Given the description of an element on the screen output the (x, y) to click on. 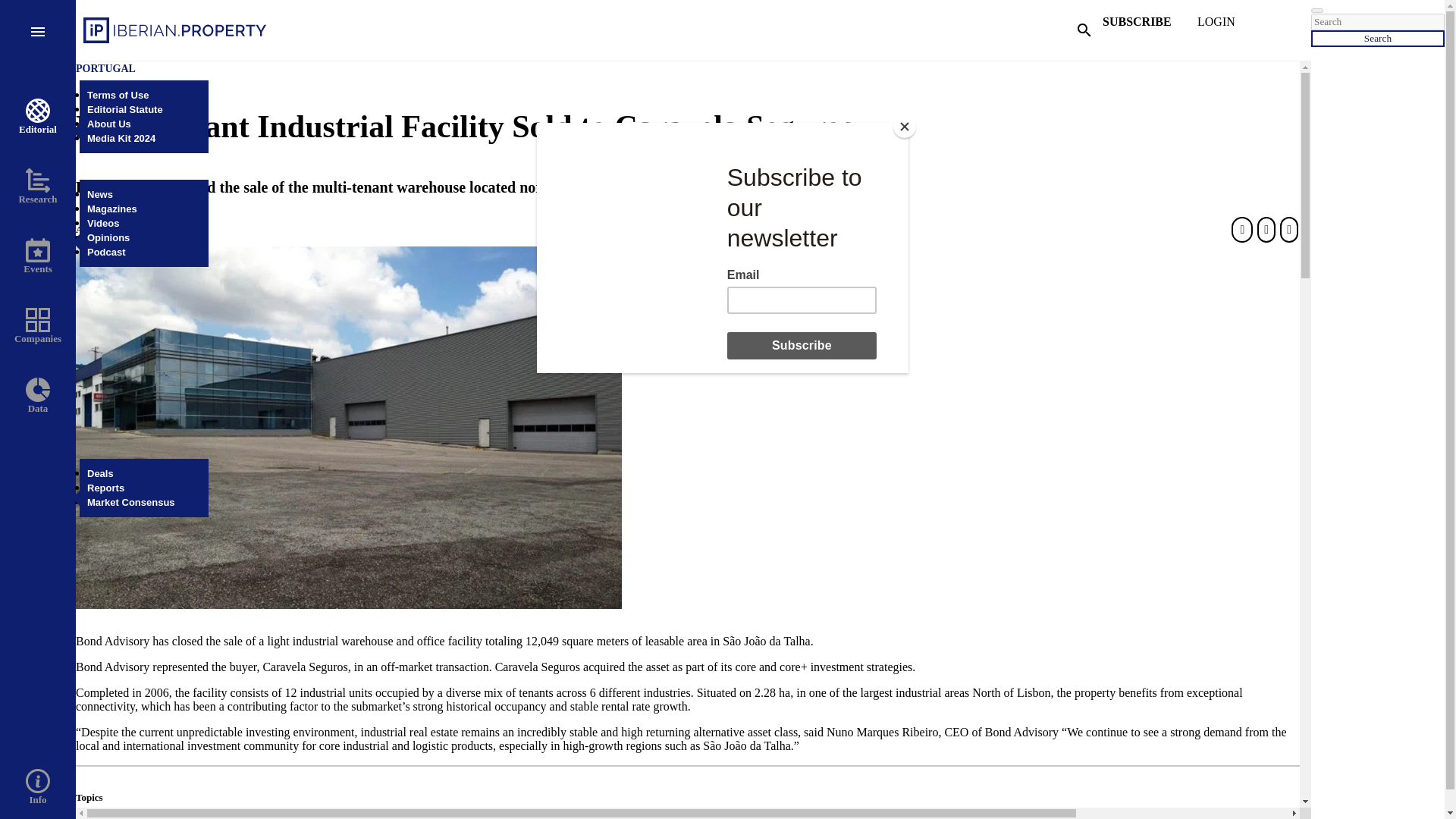
Editorial (37, 117)
Terms of Use (117, 94)
About Us (109, 123)
SUBSCRIBE (1147, 28)
LOGIN (1242, 28)
Media Kit 2024 (121, 138)
Companies (37, 326)
Reports (105, 487)
Research (37, 187)
Opinions (108, 237)
Videos (103, 223)
Editorial Statute (125, 109)
Magazines (111, 208)
Deals (100, 473)
News (100, 194)
